Given the description of an element on the screen output the (x, y) to click on. 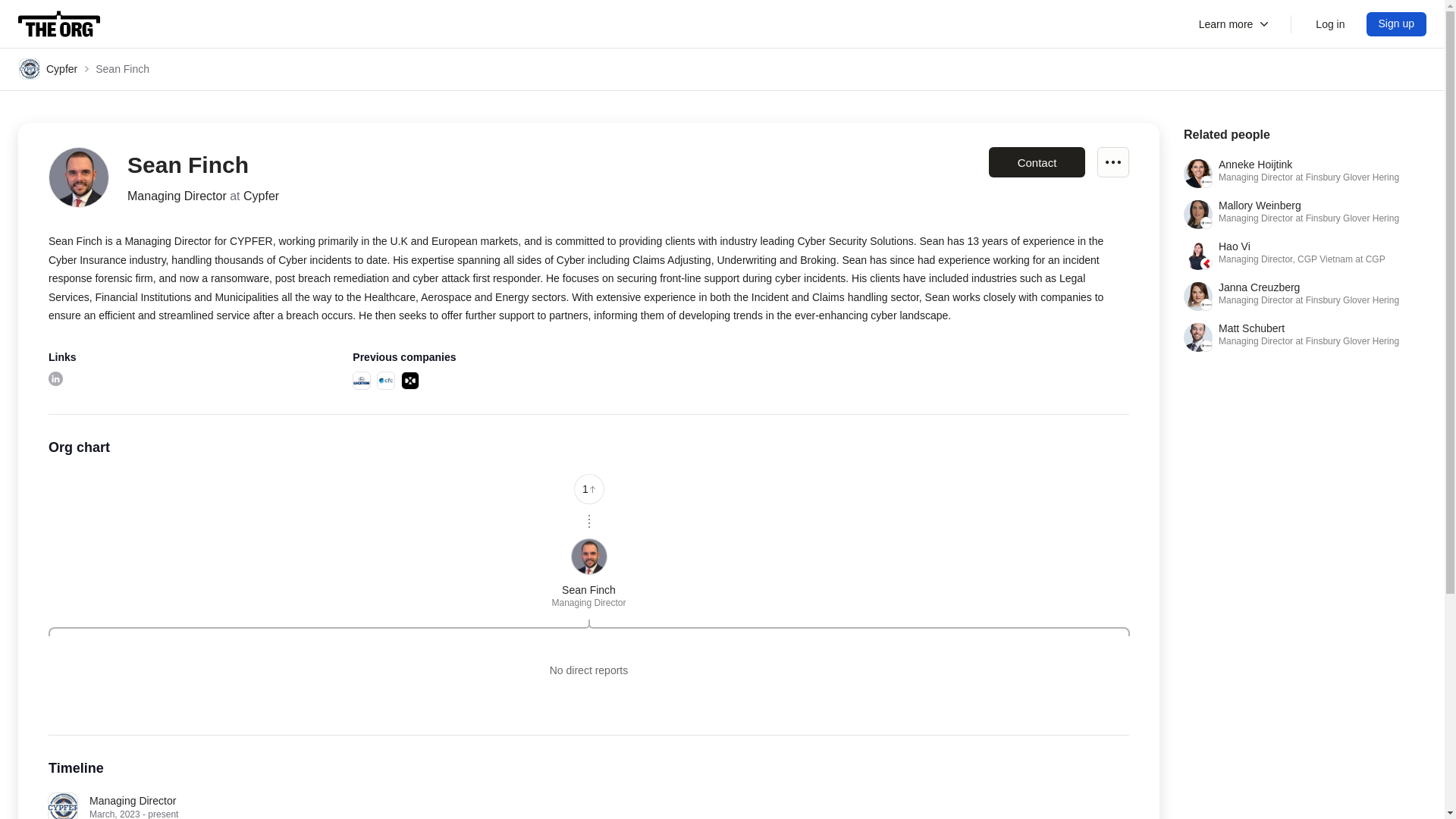
Contact (1036, 162)
Lockton Companies (1304, 296)
Learn more (1304, 255)
View on linkedIn (361, 380)
Join, edit and report menu (1234, 24)
1 (55, 378)
Sign up (1113, 162)
